Given the description of an element on the screen output the (x, y) to click on. 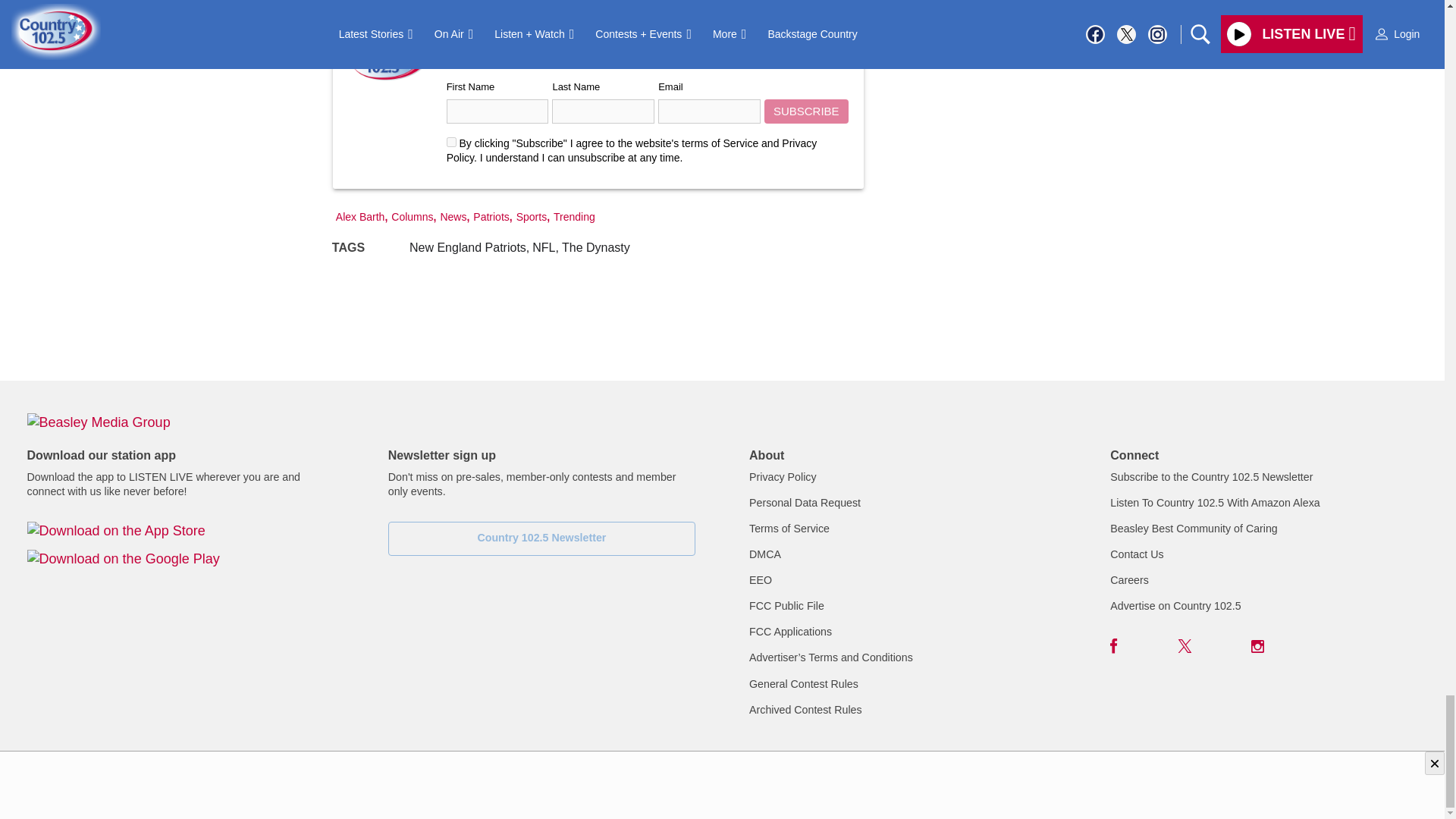
Instagram (1256, 645)
on (451, 142)
Twitter (1184, 645)
